Given the description of an element on the screen output the (x, y) to click on. 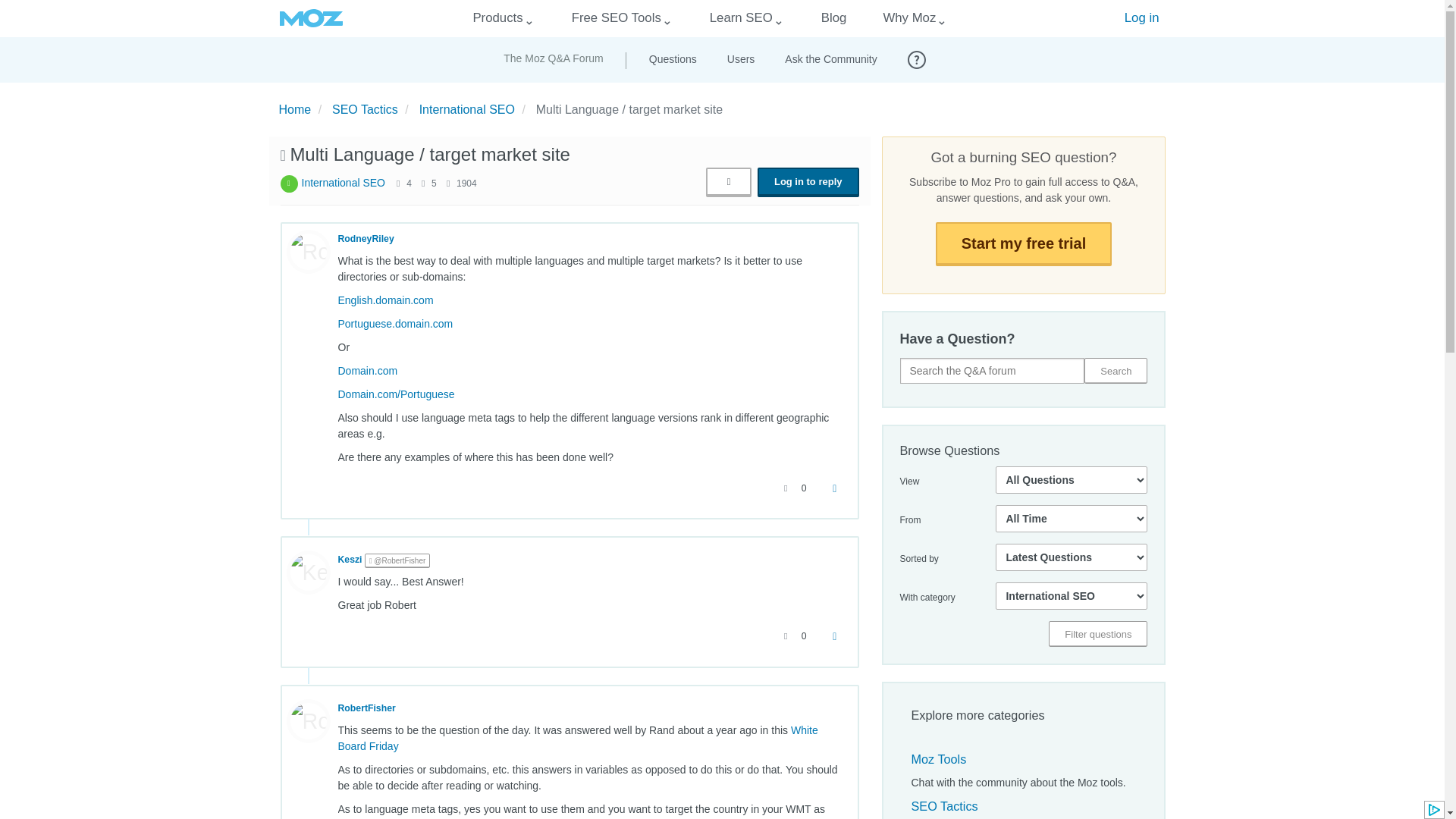
Filter questions (1097, 633)
Products (496, 18)
Moz Home (311, 18)
Search (1115, 370)
Moz logo (311, 18)
Moz logo (311, 18)
